Given the description of an element on the screen output the (x, y) to click on. 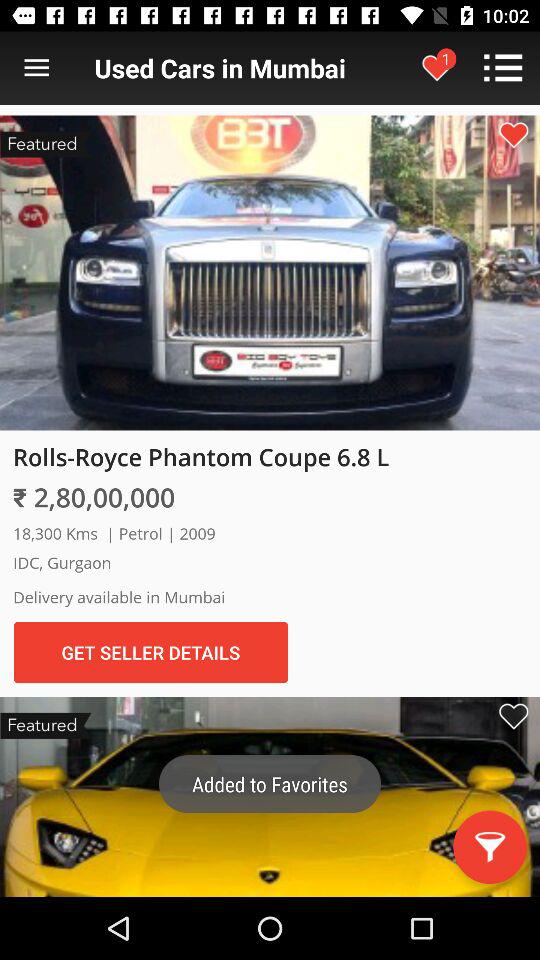
open menu (36, 68)
